Given the description of an element on the screen output the (x, y) to click on. 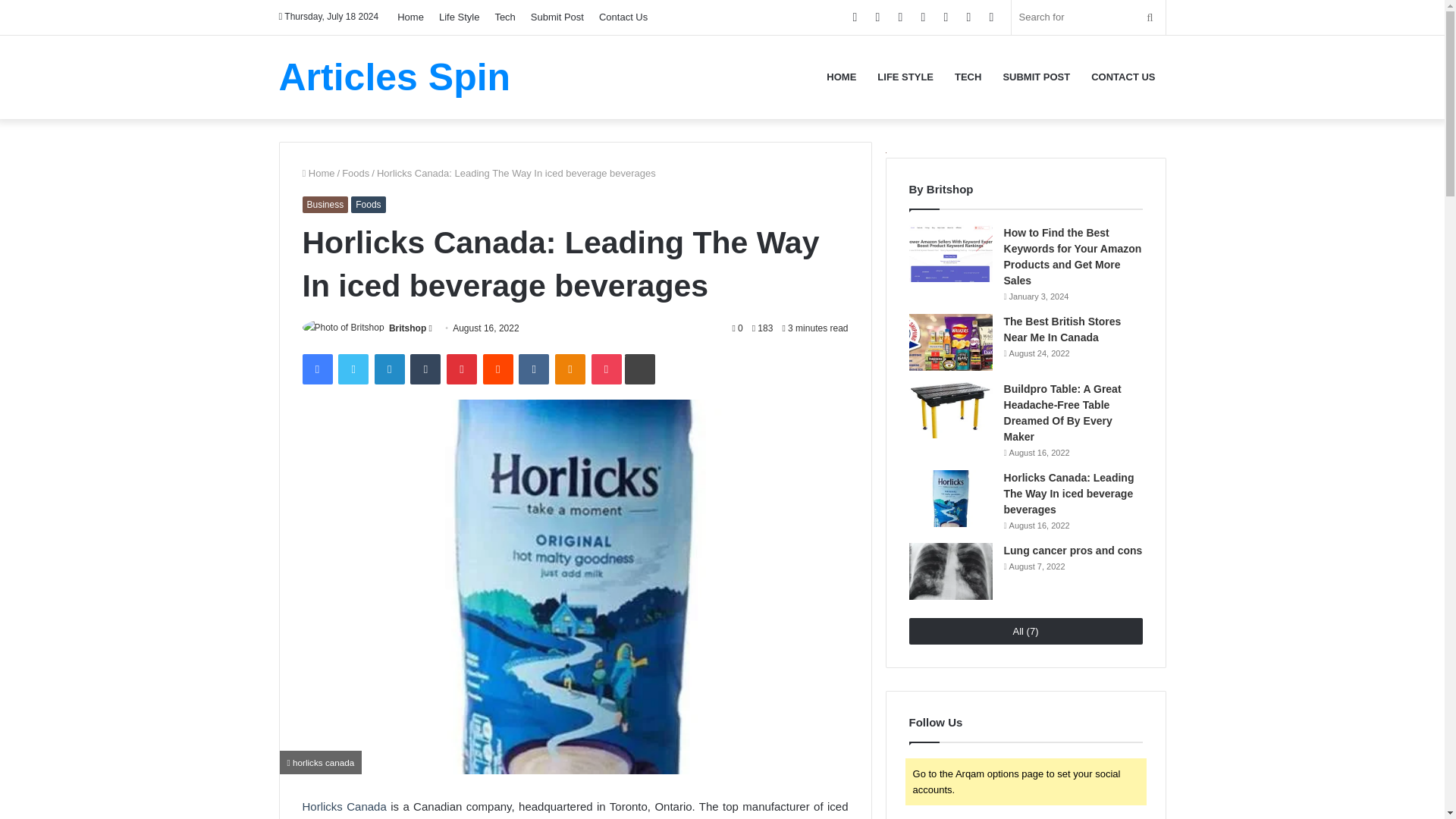
VKontakte (533, 368)
Tumblr (425, 368)
Business (324, 203)
Reddit (498, 368)
Pocket (606, 368)
Pinterest (461, 368)
Life Style (458, 17)
SUBMIT POST (1035, 76)
Pinterest (461, 368)
Britshop (407, 327)
Facebook (316, 368)
Search for (1088, 17)
Contact Us (623, 17)
Twitter (352, 368)
Articles Spin (395, 76)
